Given the description of an element on the screen output the (x, y) to click on. 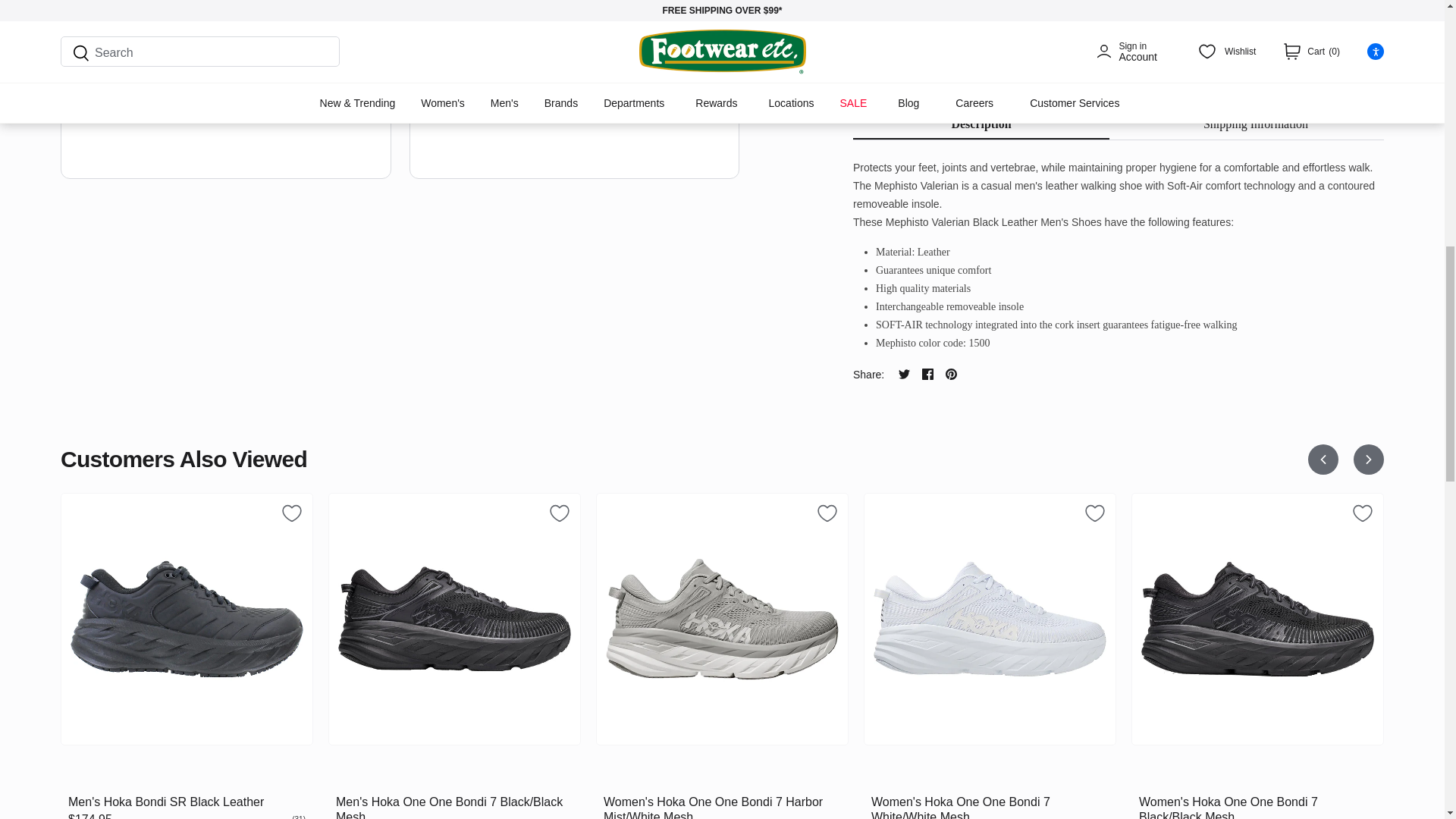
Add to Wishlist (1362, 513)
Facebook (927, 374)
Men's Hoka Bondi SR Black Leather (185, 618)
Add to Wishlist (874, 90)
Customers Also Viewed (679, 459)
Add to Wishlist (1094, 513)
Twitter (904, 374)
Add to Wishlist (826, 513)
Add to Wishlist (291, 513)
Pinterest (950, 374)
Add to Wishlist (559, 513)
